Given the description of an element on the screen output the (x, y) to click on. 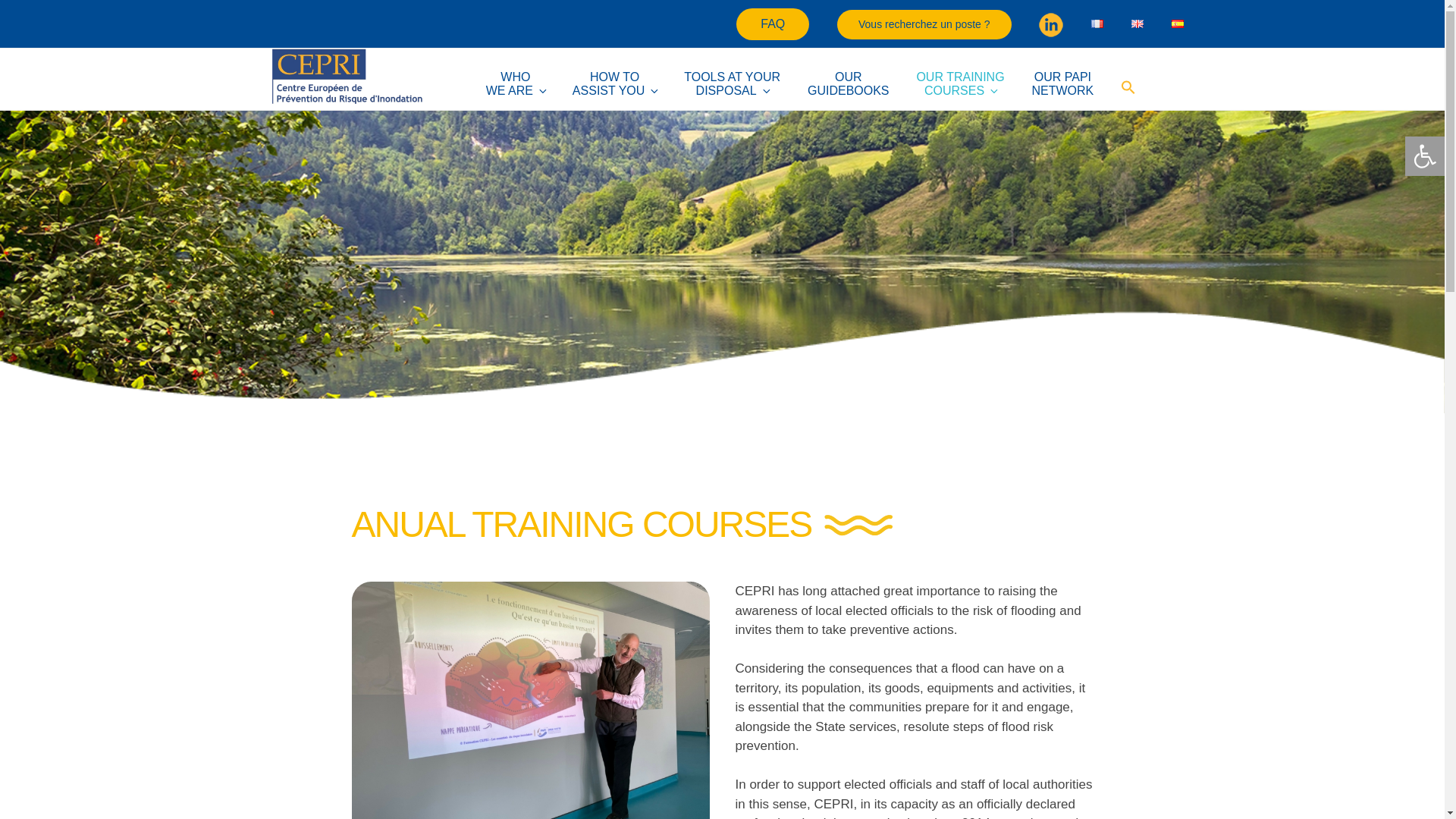
FAQ (515, 83)
linkedin-icon (772, 24)
Vous recherchez un poste ? (731, 83)
